Given the description of an element on the screen output the (x, y) to click on. 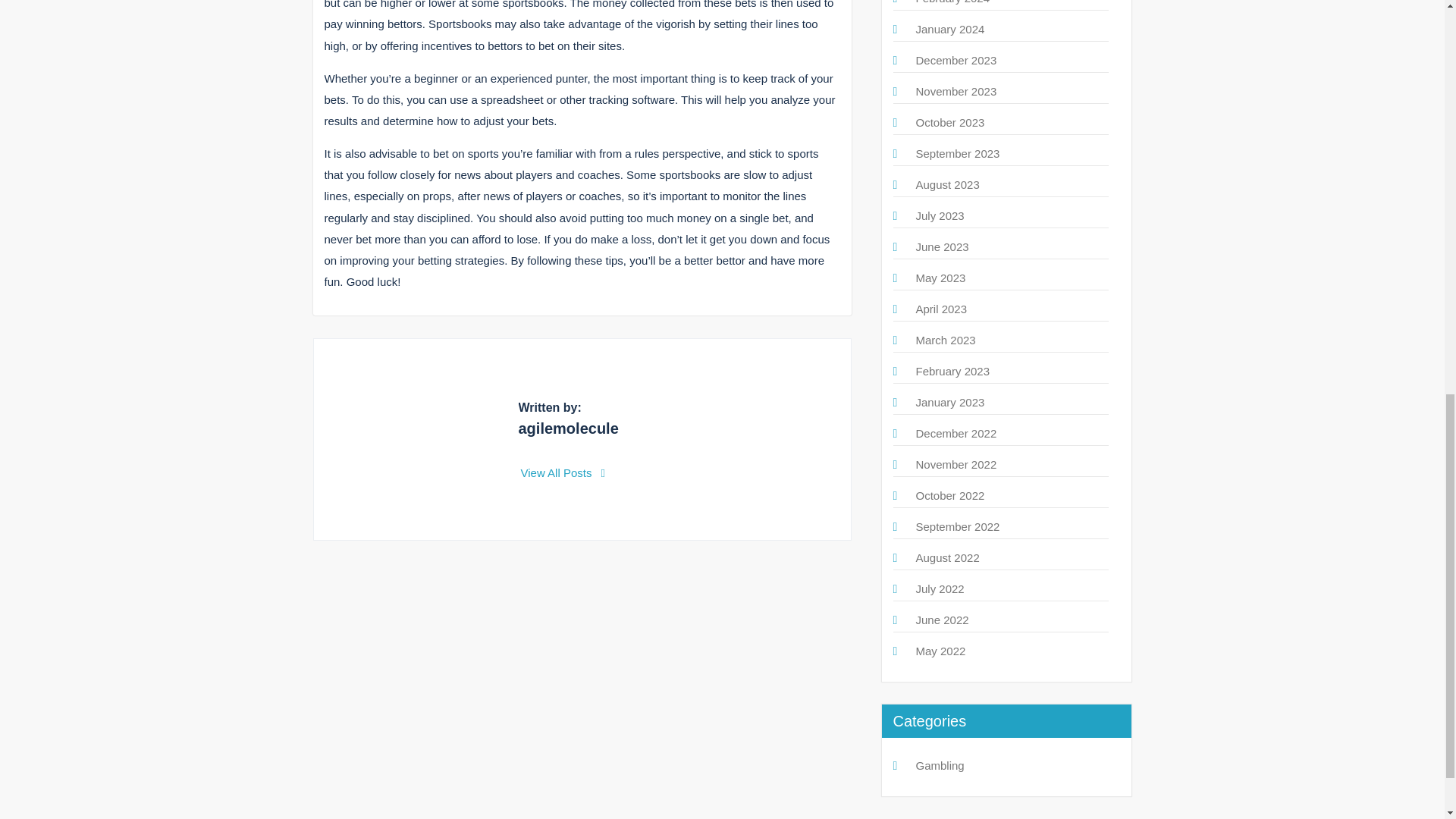
July 2023 (939, 215)
November 2023 (956, 91)
April 2023 (941, 308)
December 2022 (956, 432)
August 2023 (947, 184)
Gambling (939, 765)
February 2024 (952, 2)
View All Posts (562, 472)
December 2023 (956, 60)
January 2024 (950, 29)
September 2022 (957, 526)
August 2022 (947, 557)
July 2022 (939, 588)
October 2023 (950, 122)
October 2022 (950, 495)
